Given the description of an element on the screen output the (x, y) to click on. 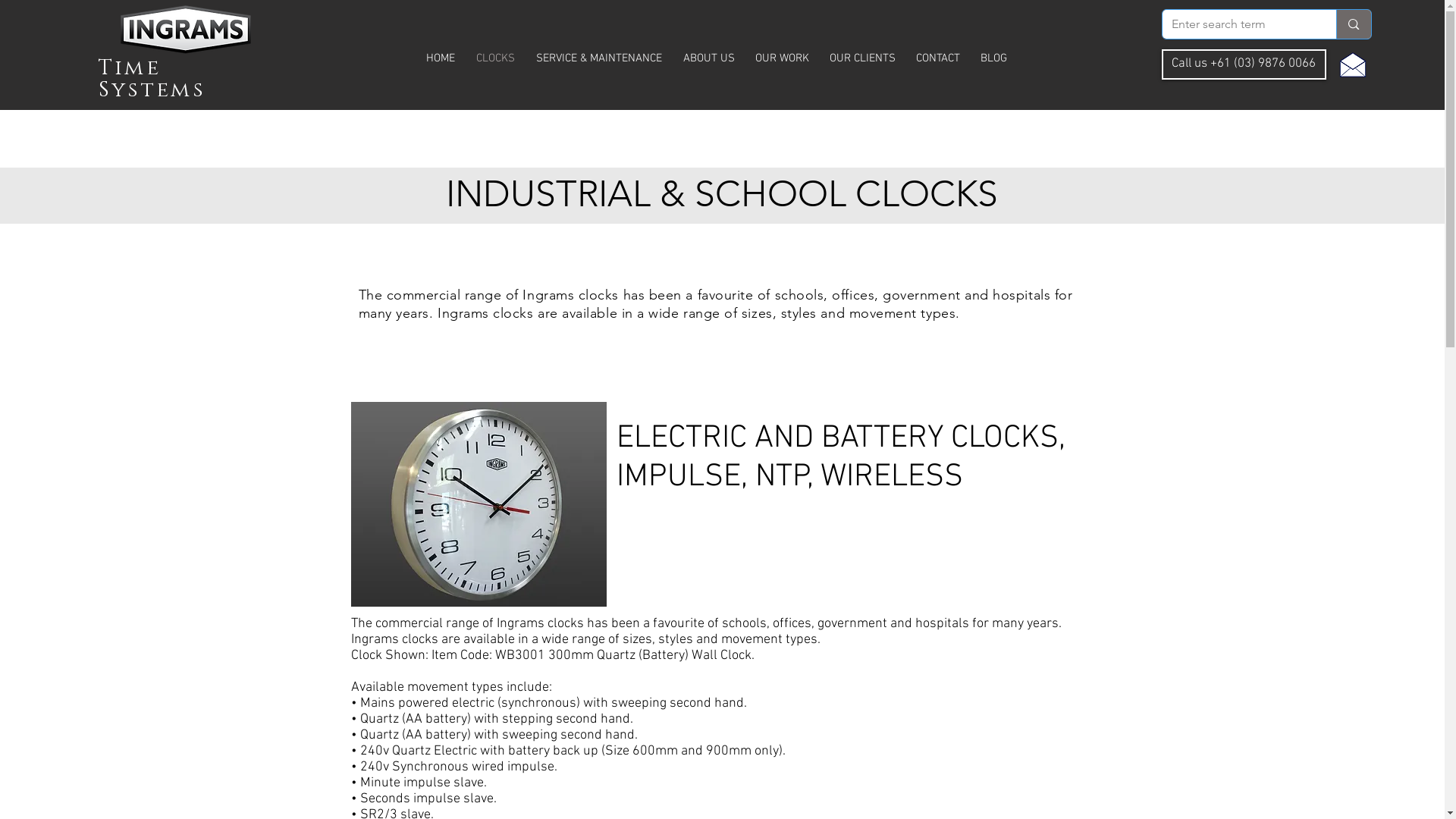
Call us +61 (03) 9876 0066 Element type: text (1243, 64)
BLOG Element type: text (993, 58)
OUR CLIENTS Element type: text (862, 58)
SERVICE & MAINTENANCE Element type: text (597, 58)
CONTACT Element type: text (937, 58)
HOME Element type: text (440, 58)
ABOUT US Element type: text (707, 58)
CLOCKS Element type: text (495, 58)
OUR WORK Element type: text (781, 58)
